Given the description of an element on the screen output the (x, y) to click on. 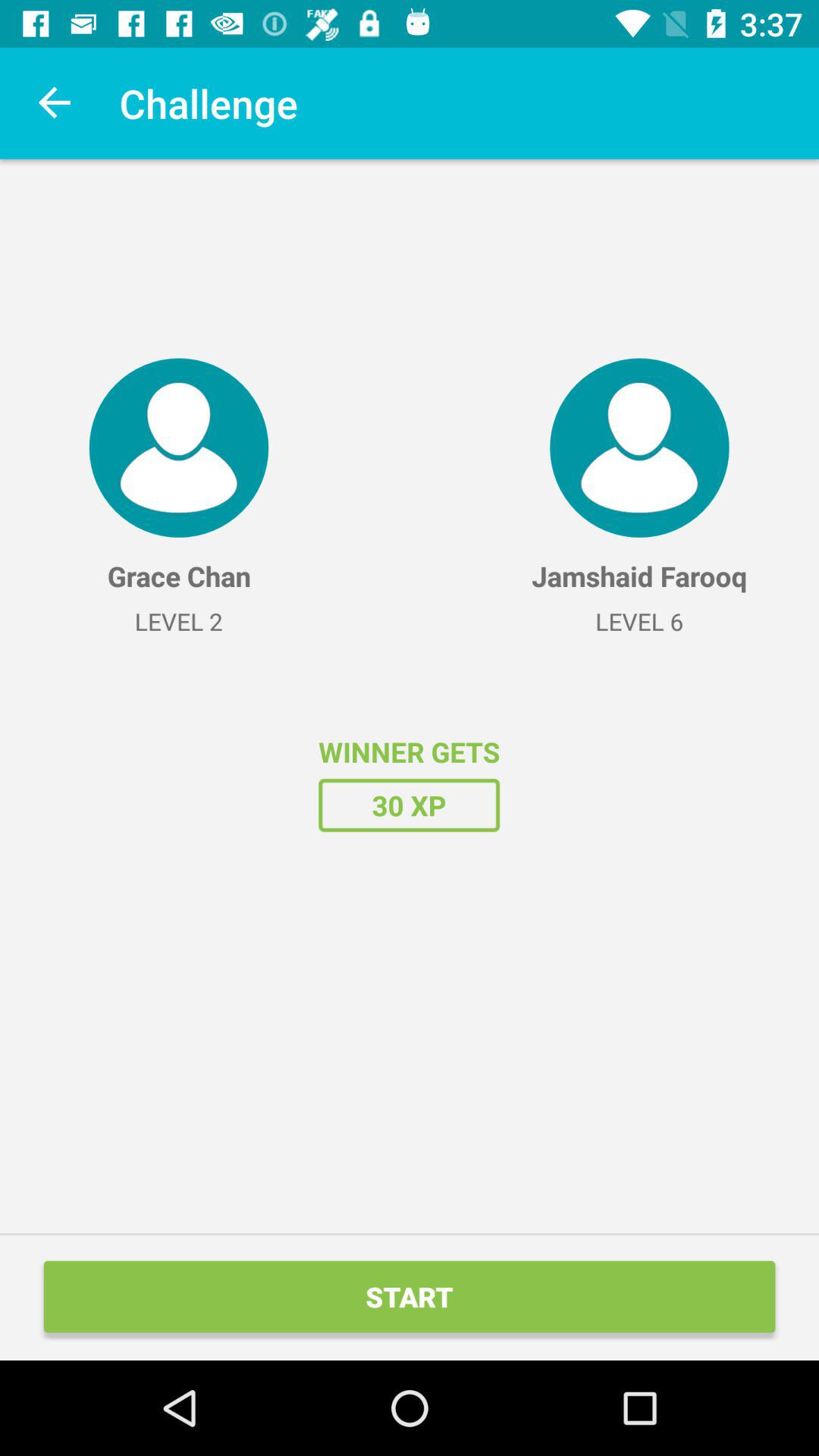
select user badge (178, 447)
